Given the description of an element on the screen output the (x, y) to click on. 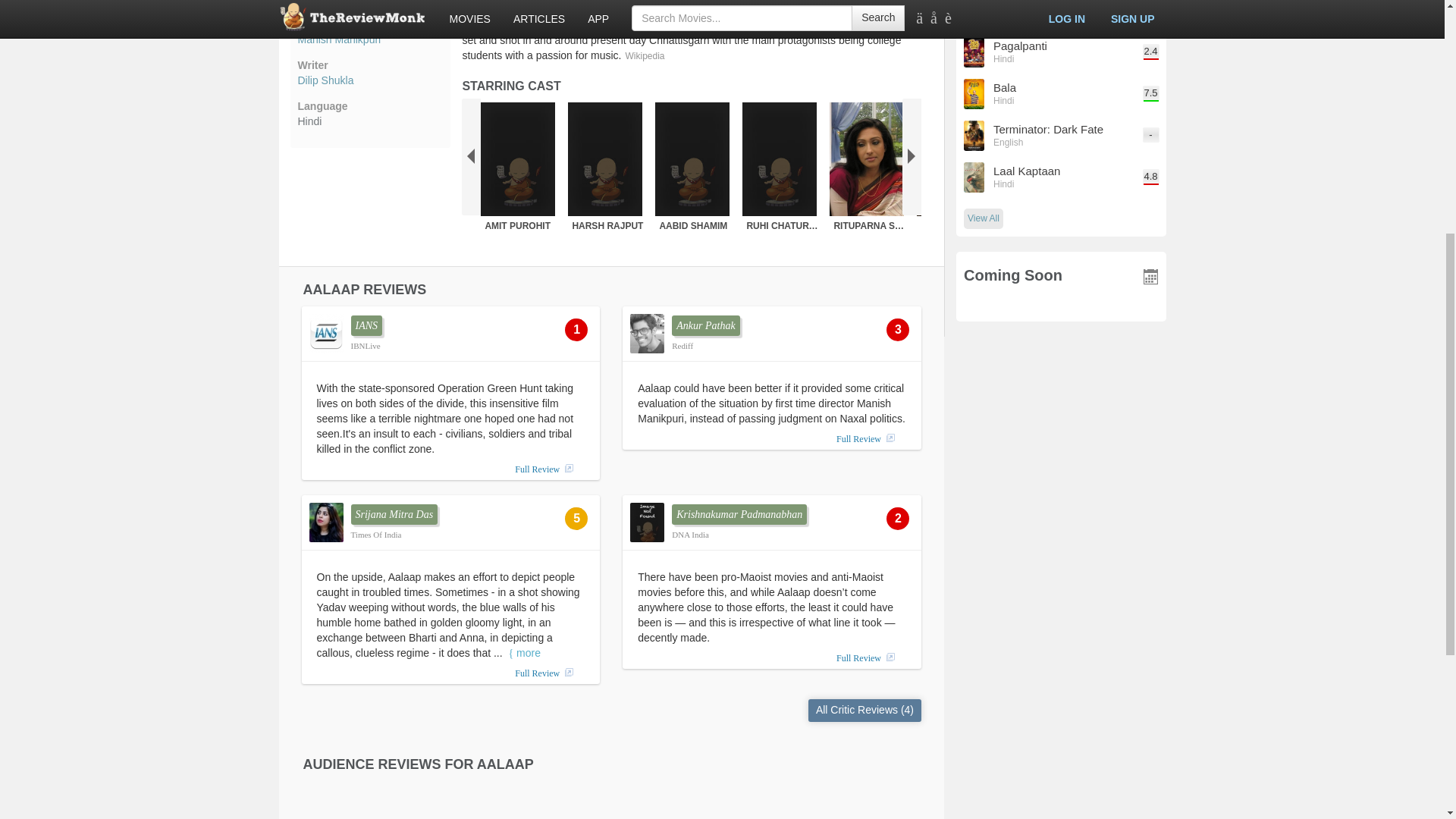
Dilip Shukla (369, 79)
Manish Manikpuri (369, 38)
